Given the description of an element on the screen output the (x, y) to click on. 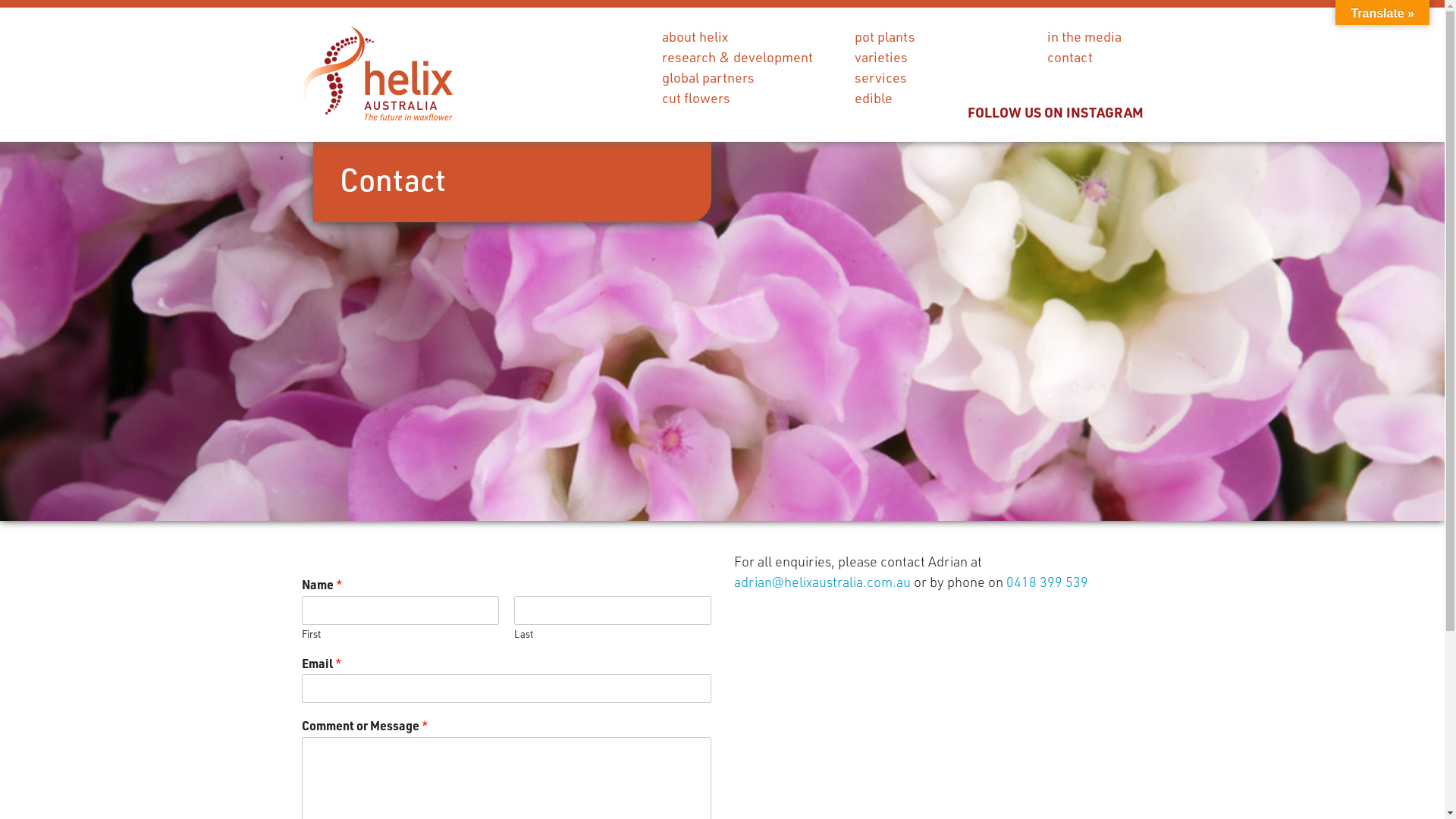
varieties Element type: text (879, 56)
FOLLOW US ON INSTAGRAM Element type: text (1055, 112)
in the media Element type: text (1083, 36)
research & development Element type: text (736, 56)
global partners Element type: text (707, 77)
about helix Element type: text (694, 36)
0418 399 539 Element type: text (1046, 581)
edible Element type: text (872, 97)
pot plants Element type: text (883, 36)
contact Element type: text (1069, 56)
services Element type: text (879, 77)
adrian@helixaustralia.com.au Element type: text (822, 581)
cut flowers Element type: text (695, 97)
